Given the description of an element on the screen output the (x, y) to click on. 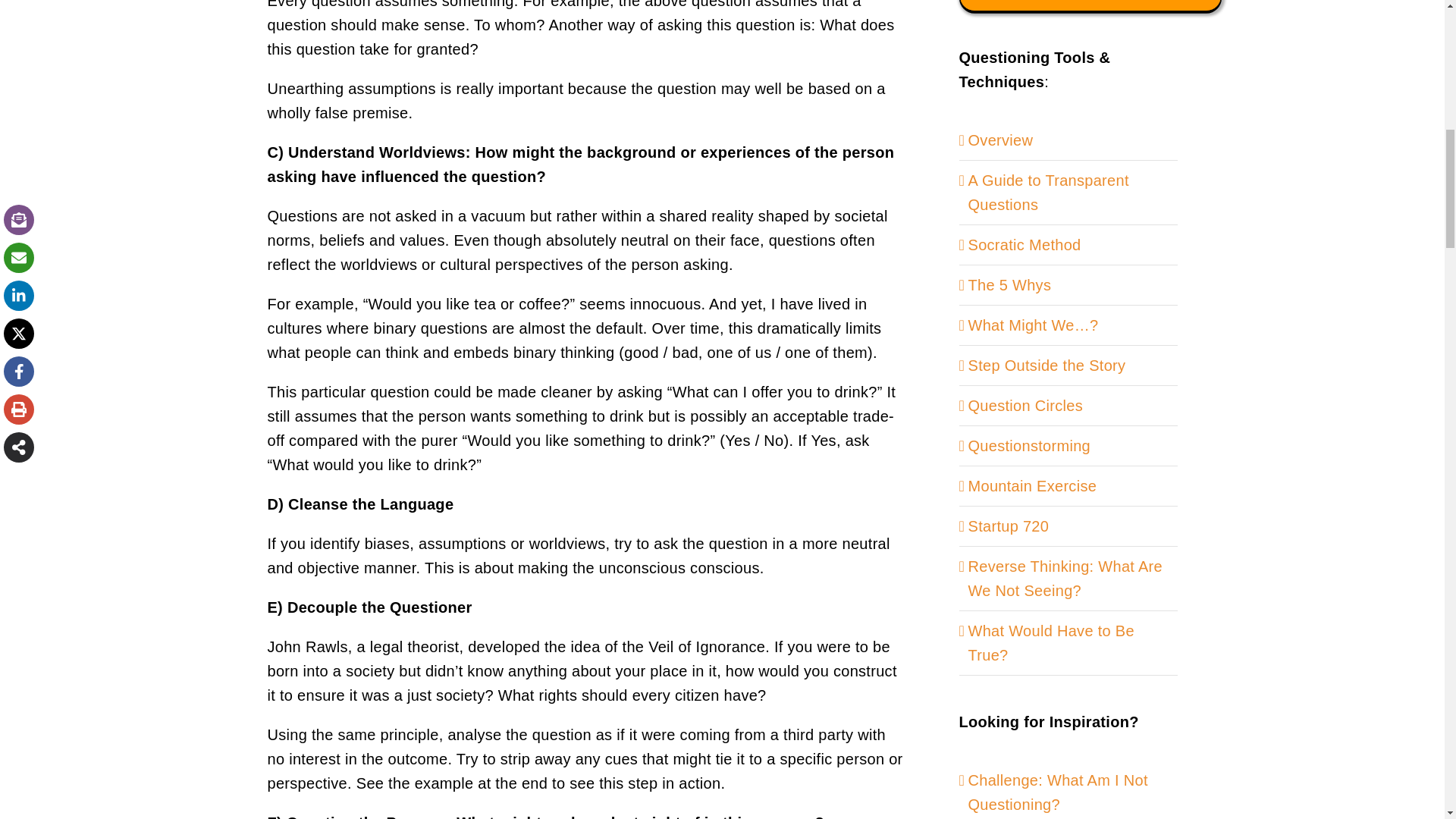
Get my Weekly Reminder! (1089, 5)
